Given the description of an element on the screen output the (x, y) to click on. 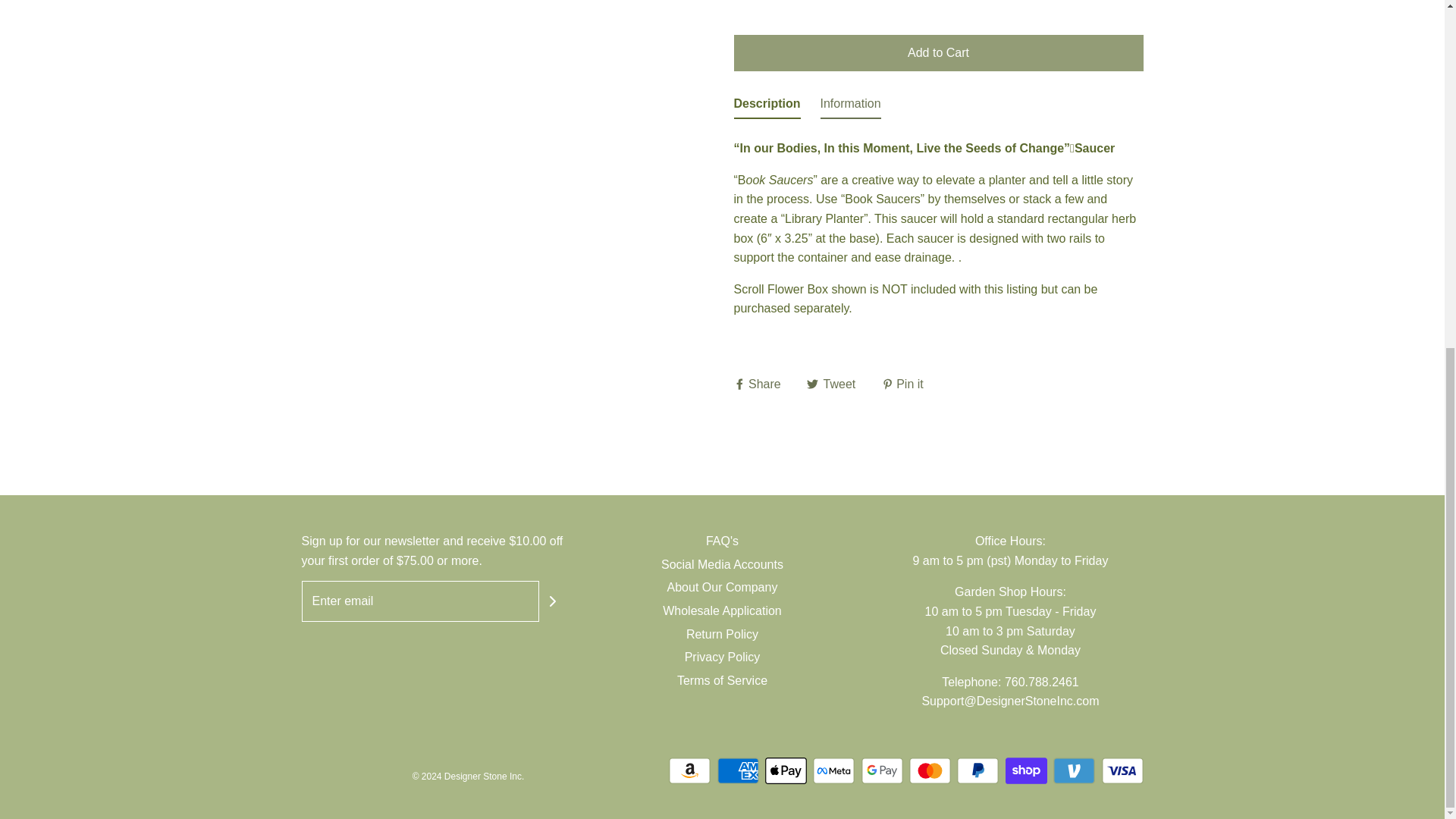
Visa (1121, 770)
PayPal (977, 770)
Venmo (1073, 770)
Shop Pay (1026, 770)
Meta Pay (833, 770)
American Express (737, 770)
Mastercard (929, 770)
Amazon (689, 770)
Apple Pay (785, 770)
Google Pay (881, 770)
